Given the description of an element on the screen output the (x, y) to click on. 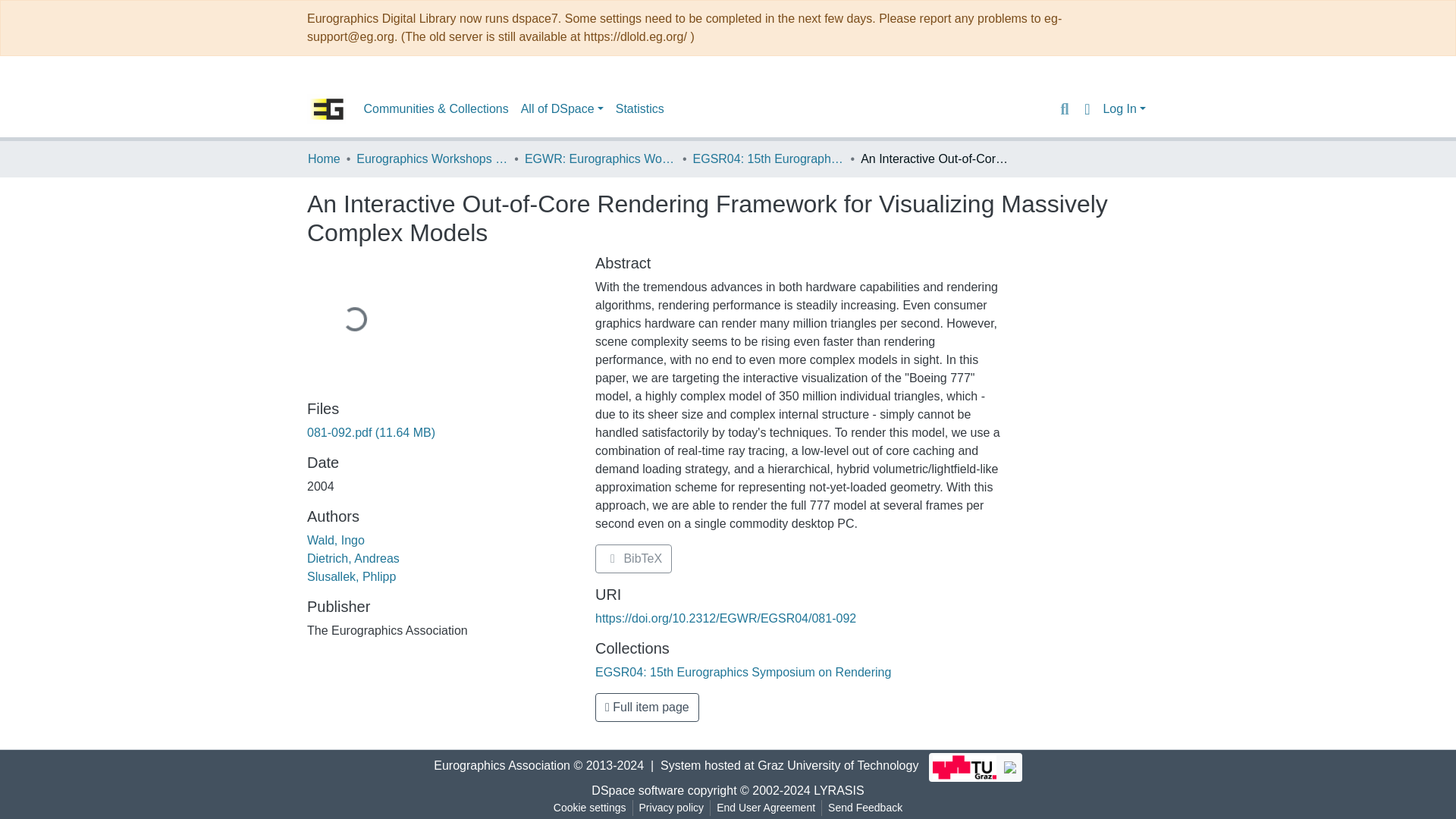
DSpace software (637, 789)
Eurographics Association (501, 765)
Privacy policy (671, 807)
LYRASIS (838, 789)
BibTeX (633, 558)
EGSR04: 15th Eurographics Symposium on Rendering (743, 671)
Log In (1123, 108)
Home (323, 158)
All of DSpace (562, 109)
EGSR04: 15th Eurographics Symposium on Rendering (768, 158)
Search (1064, 108)
Wald, Ingo (336, 540)
Eurographics Workshops and Symposia (432, 158)
Statistics (639, 109)
Full item page (646, 706)
